Given the description of an element on the screen output the (x, y) to click on. 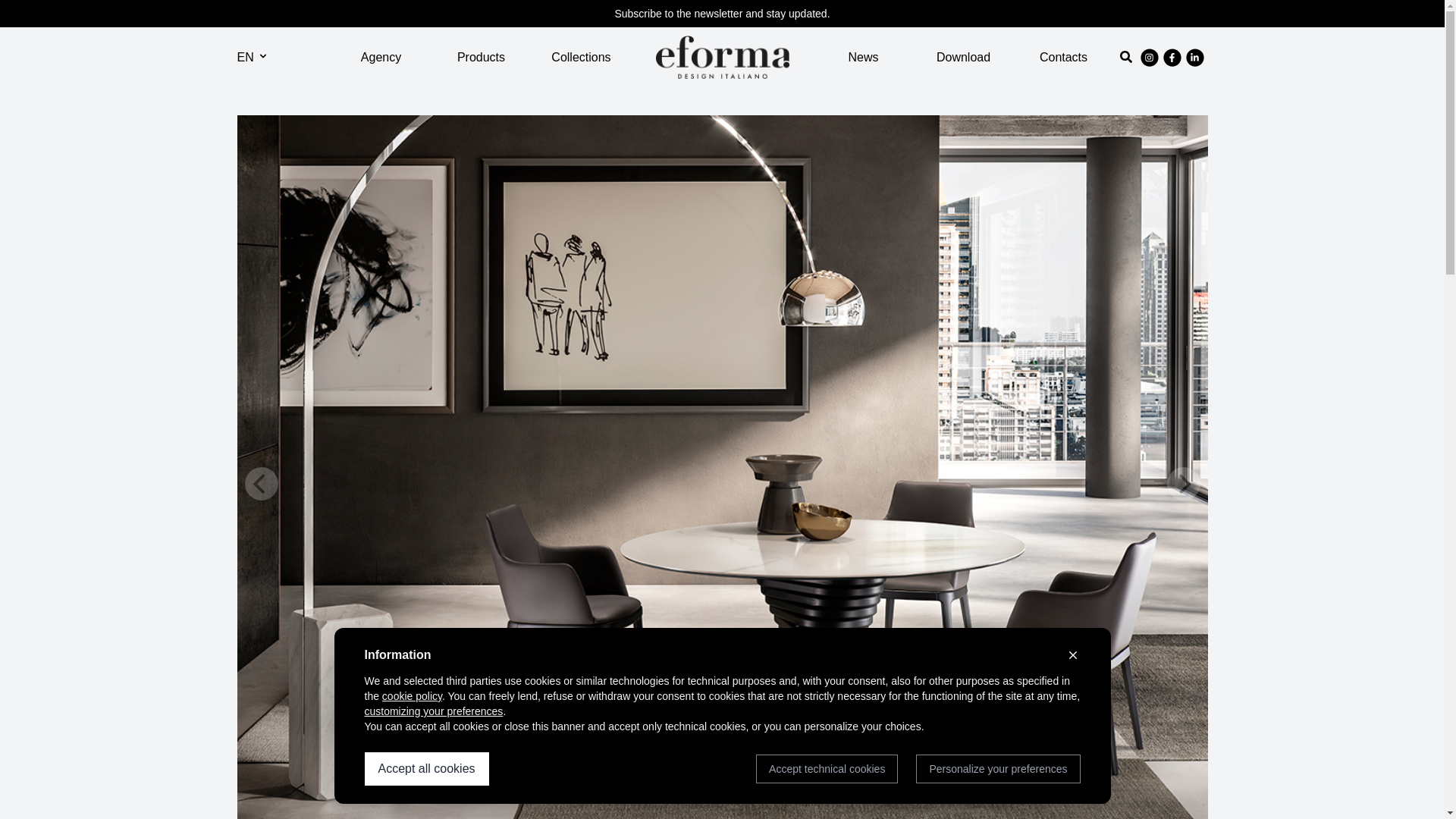
News (862, 56)
Products (481, 57)
Download (963, 56)
EN (251, 57)
Collections (580, 56)
Agency (381, 56)
Subscribe to the newsletter and stay updated. (721, 13)
Contacts (1063, 56)
